Given the description of an element on the screen output the (x, y) to click on. 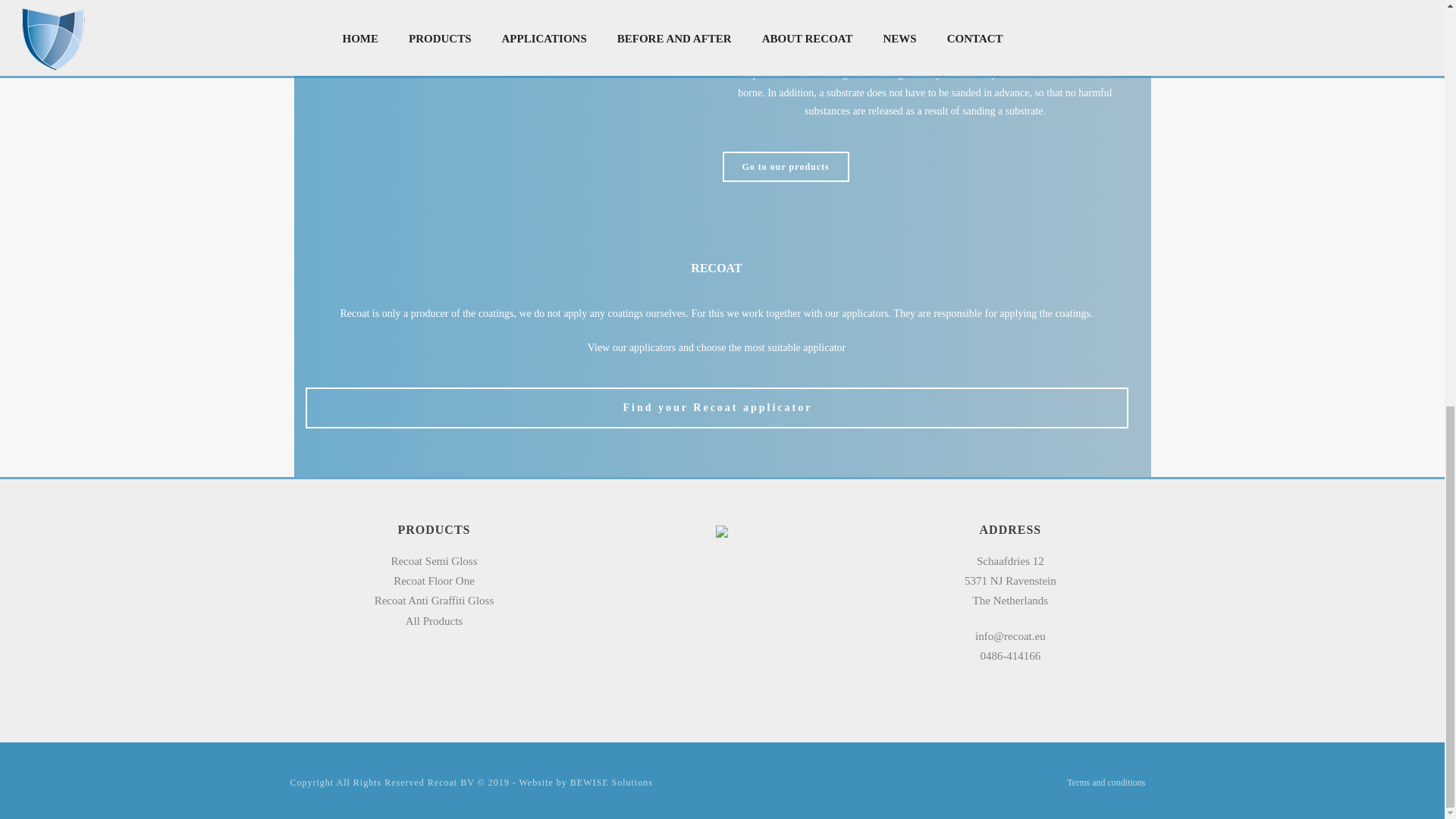
All Products (434, 621)
Find your Recoat applicator (715, 407)
0486-414166 (1010, 655)
Go to our products (785, 166)
Find your Recoat applicator (715, 407)
Go to our products (785, 166)
Recoat Floor One (433, 580)
Recoat Semi Gloss (433, 561)
Recoat Anti Graffiti Gloss (434, 600)
